Given the description of an element on the screen output the (x, y) to click on. 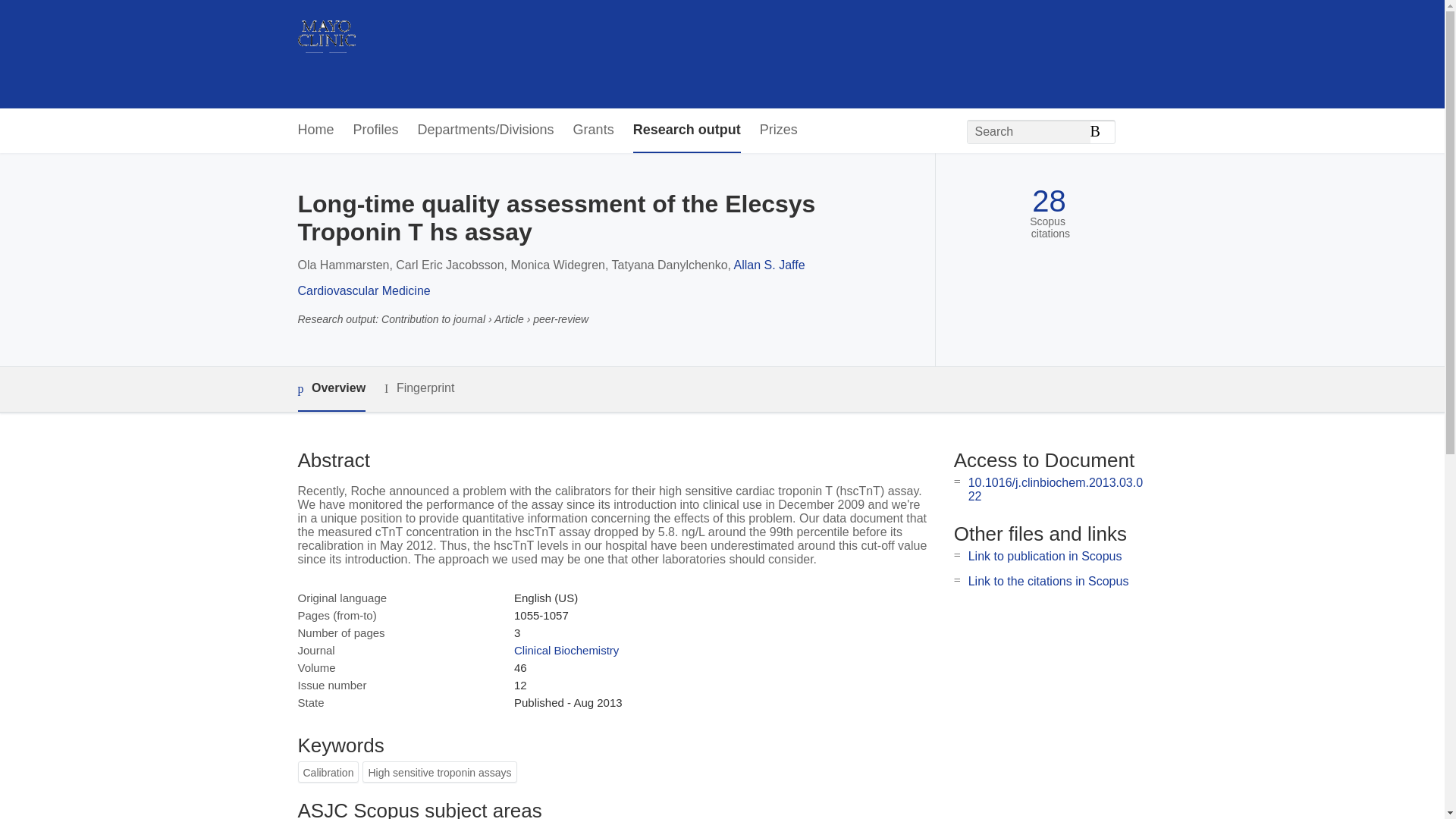
Clinical Biochemistry (565, 649)
Cardiovascular Medicine (363, 290)
Link to publication in Scopus (1045, 555)
Fingerprint (419, 388)
Link to the citations in Scopus (1048, 581)
Profiles (375, 130)
28 (1048, 201)
Overview (331, 388)
Grants (593, 130)
